Given the description of an element on the screen output the (x, y) to click on. 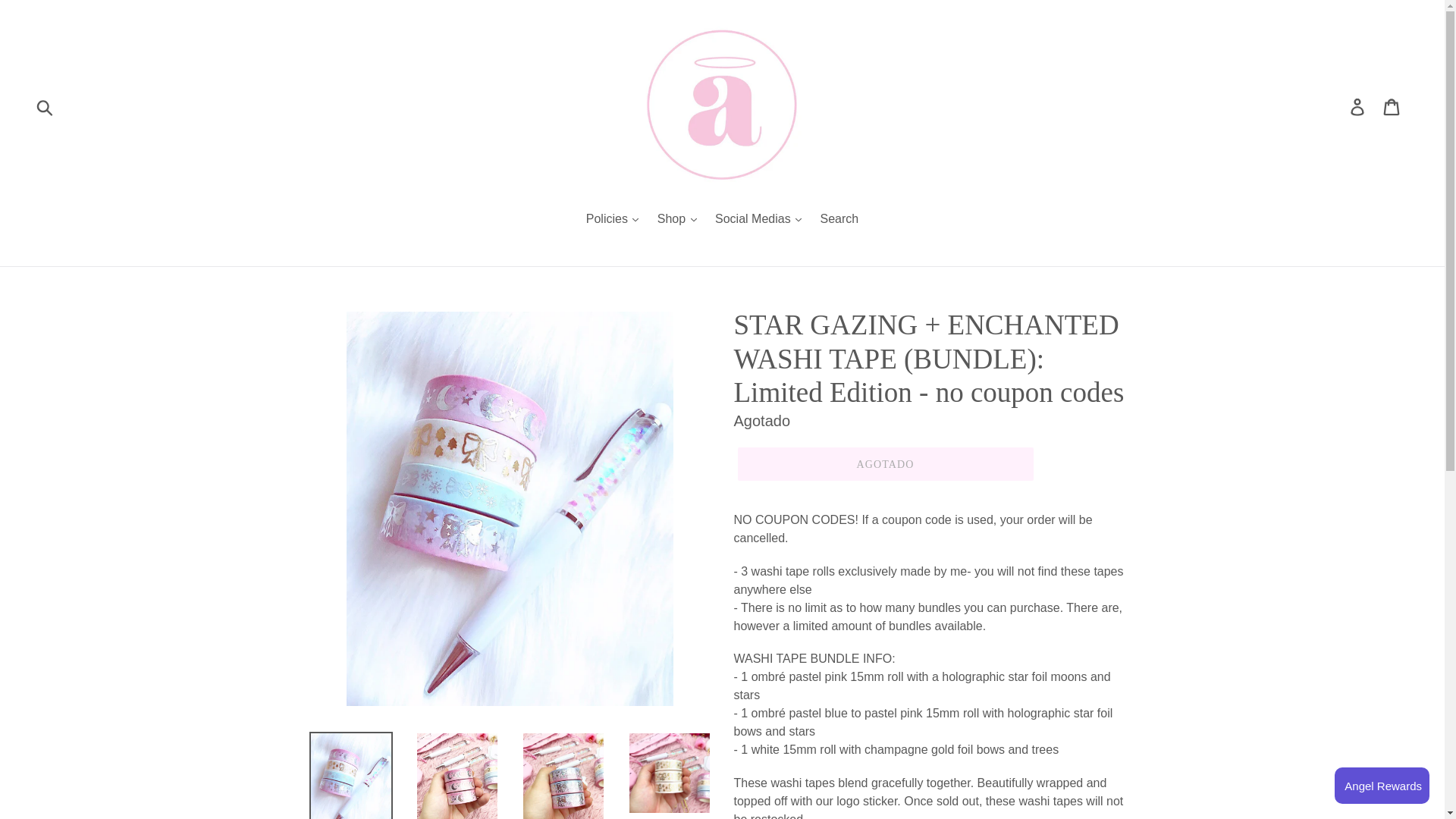
Buscar (45, 106)
Ingresar (1357, 106)
LoyaltyLion beacon (1382, 785)
Carrito (1392, 106)
